Given the description of an element on the screen output the (x, y) to click on. 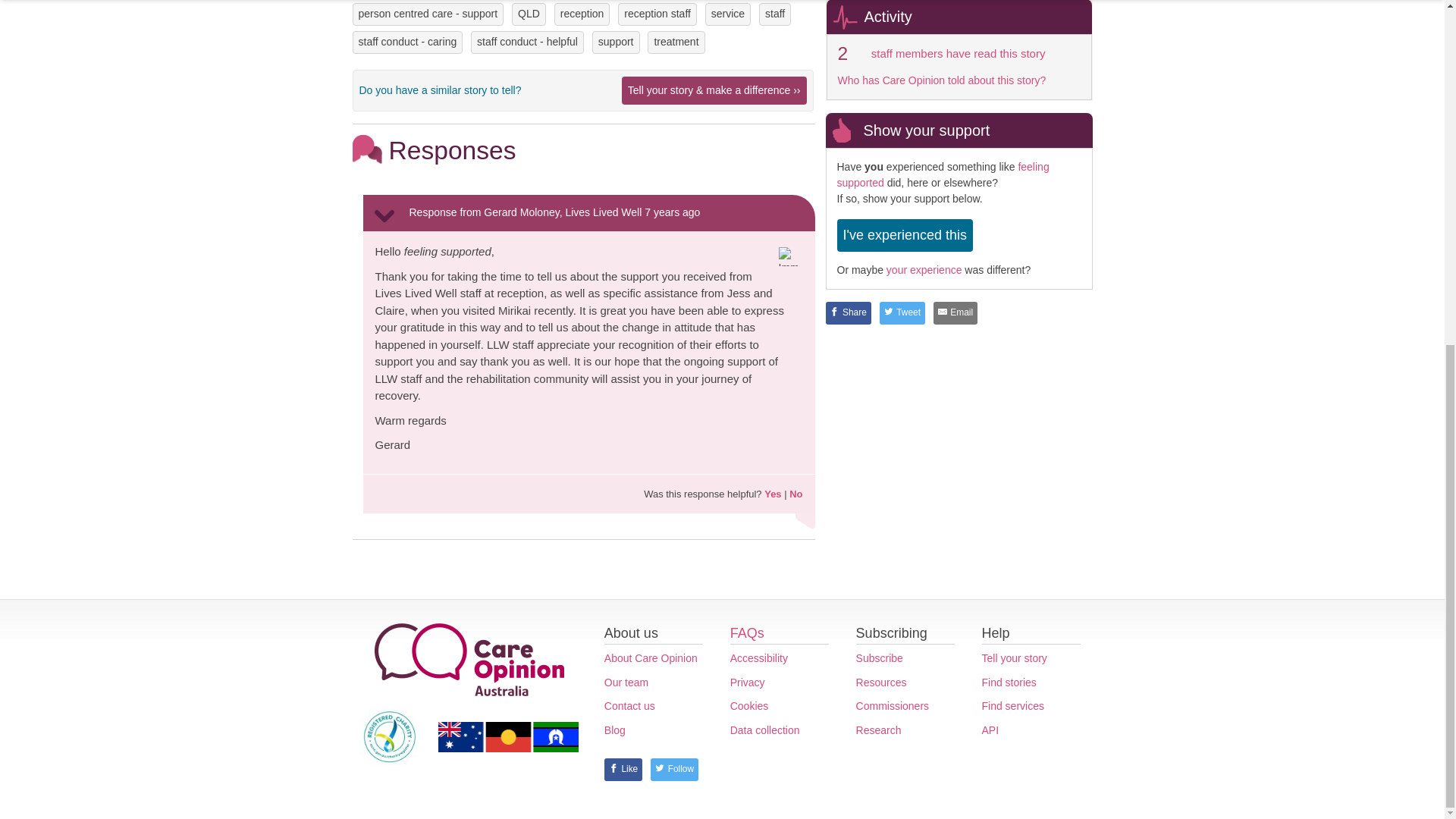
Australian Charities and Not-for-profits Commission (389, 736)
staff conduct - caring (407, 41)
Care Opinion proudly supports reconciliation (508, 736)
person centred care - support (427, 13)
Yes (772, 493)
service (727, 13)
staff (774, 13)
QLD (529, 13)
support (615, 41)
reception (582, 13)
staff conduct - helpful (527, 41)
reception staff (657, 13)
treatment (675, 41)
